Given the description of an element on the screen output the (x, y) to click on. 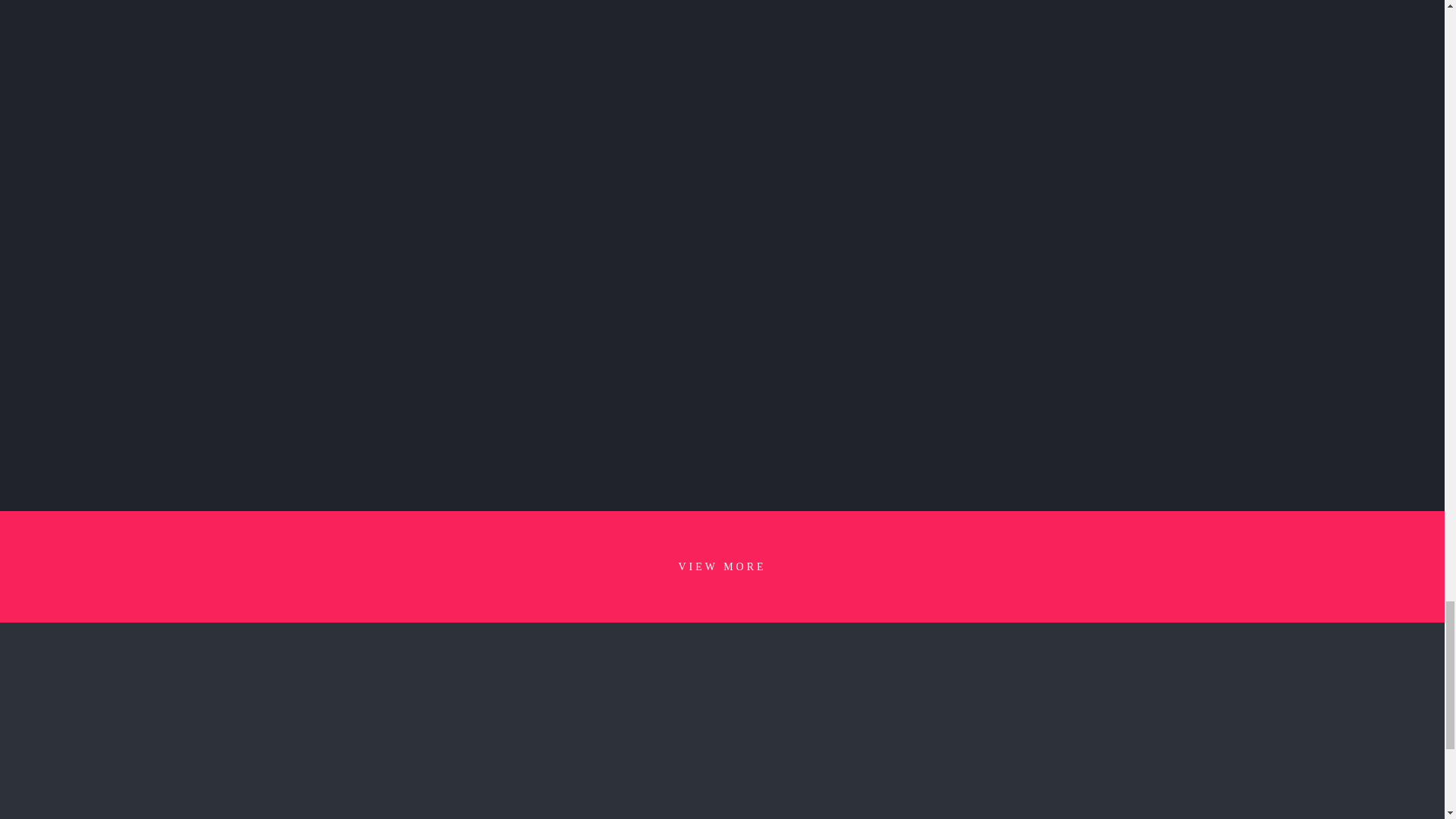
quotes (722, 770)
